Given the description of an element on the screen output the (x, y) to click on. 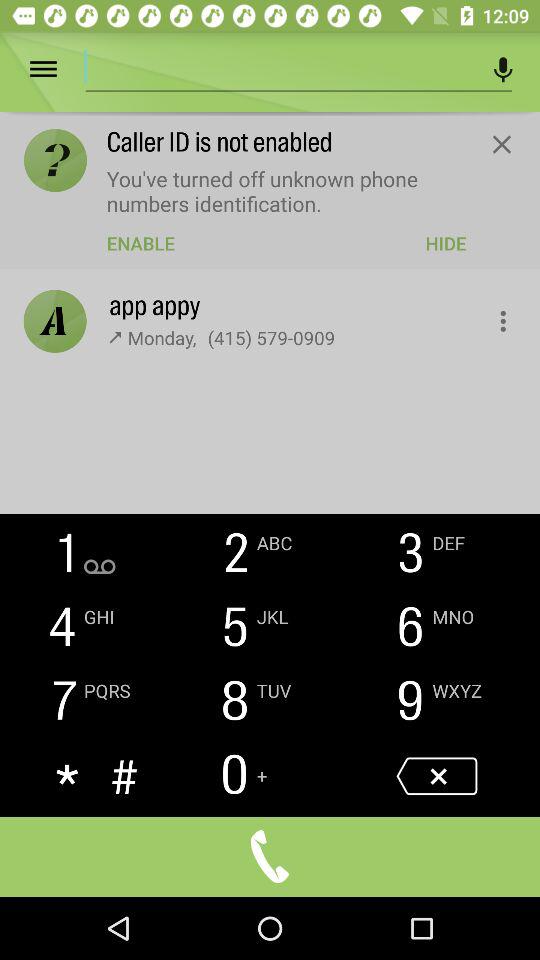
voice search (503, 69)
